Given the description of an element on the screen output the (x, y) to click on. 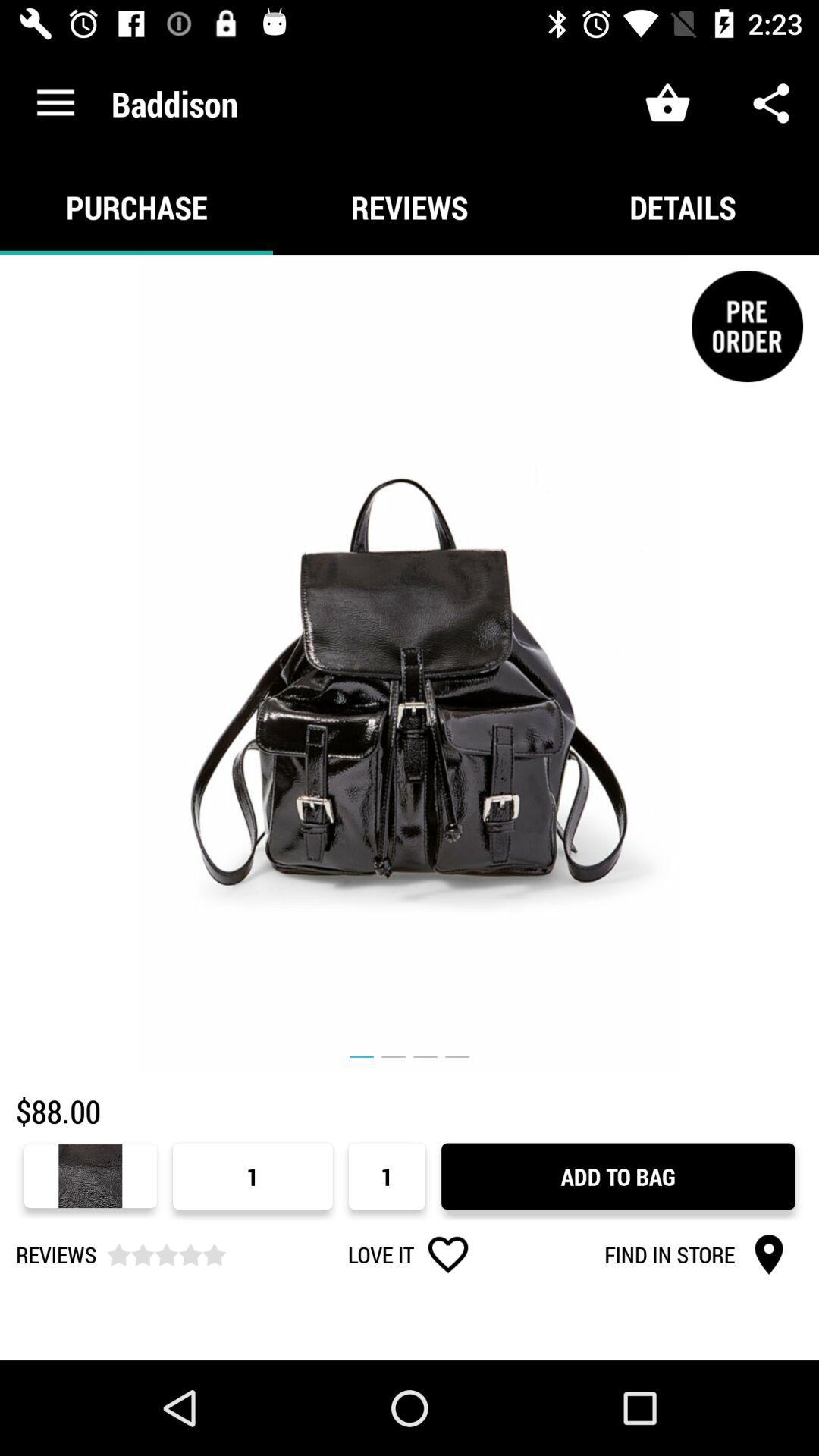
turn off icon next to baddison item (55, 103)
